Given the description of an element on the screen output the (x, y) to click on. 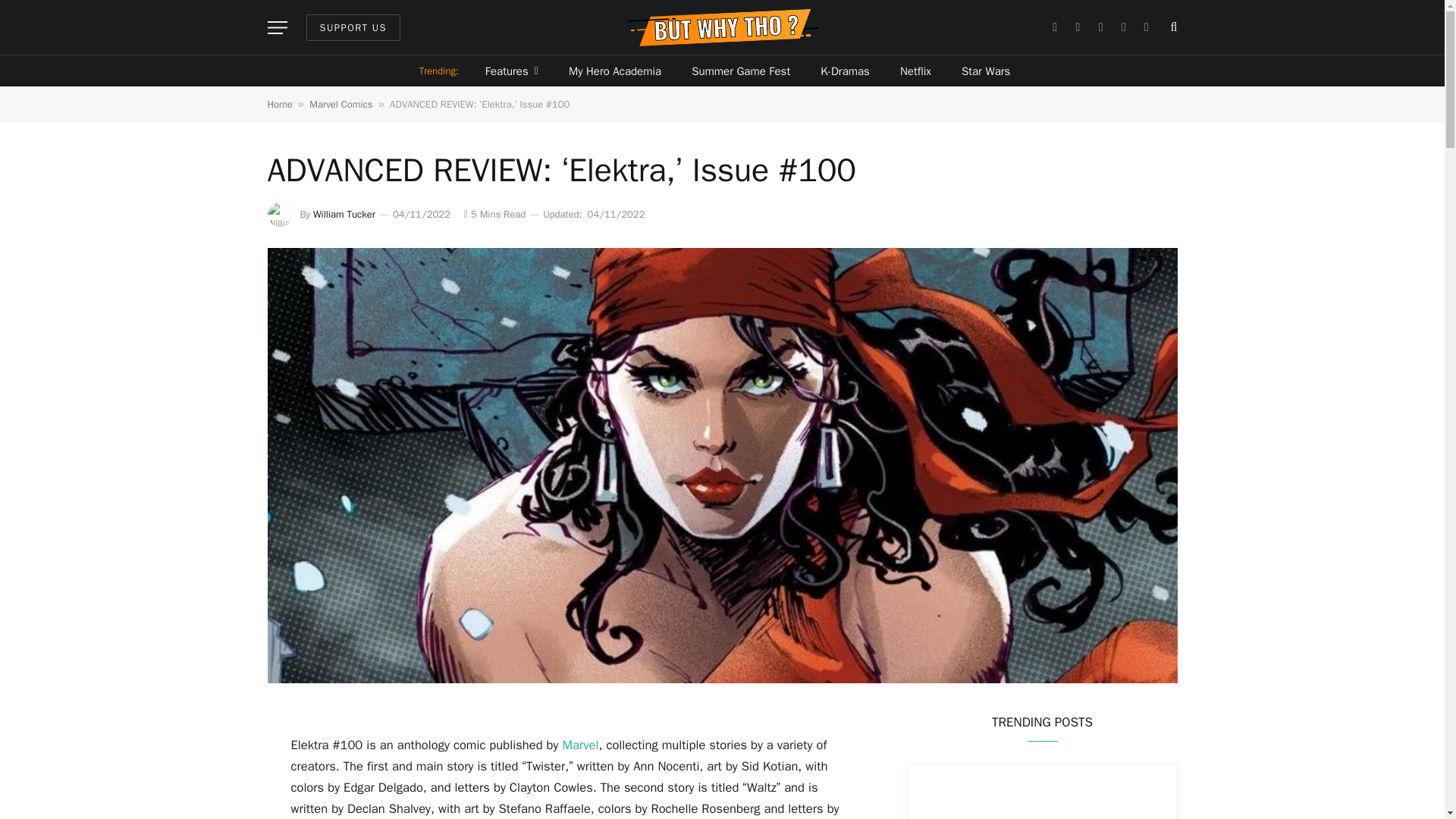
But Why Tho? (722, 27)
